Given the description of an element on the screen output the (x, y) to click on. 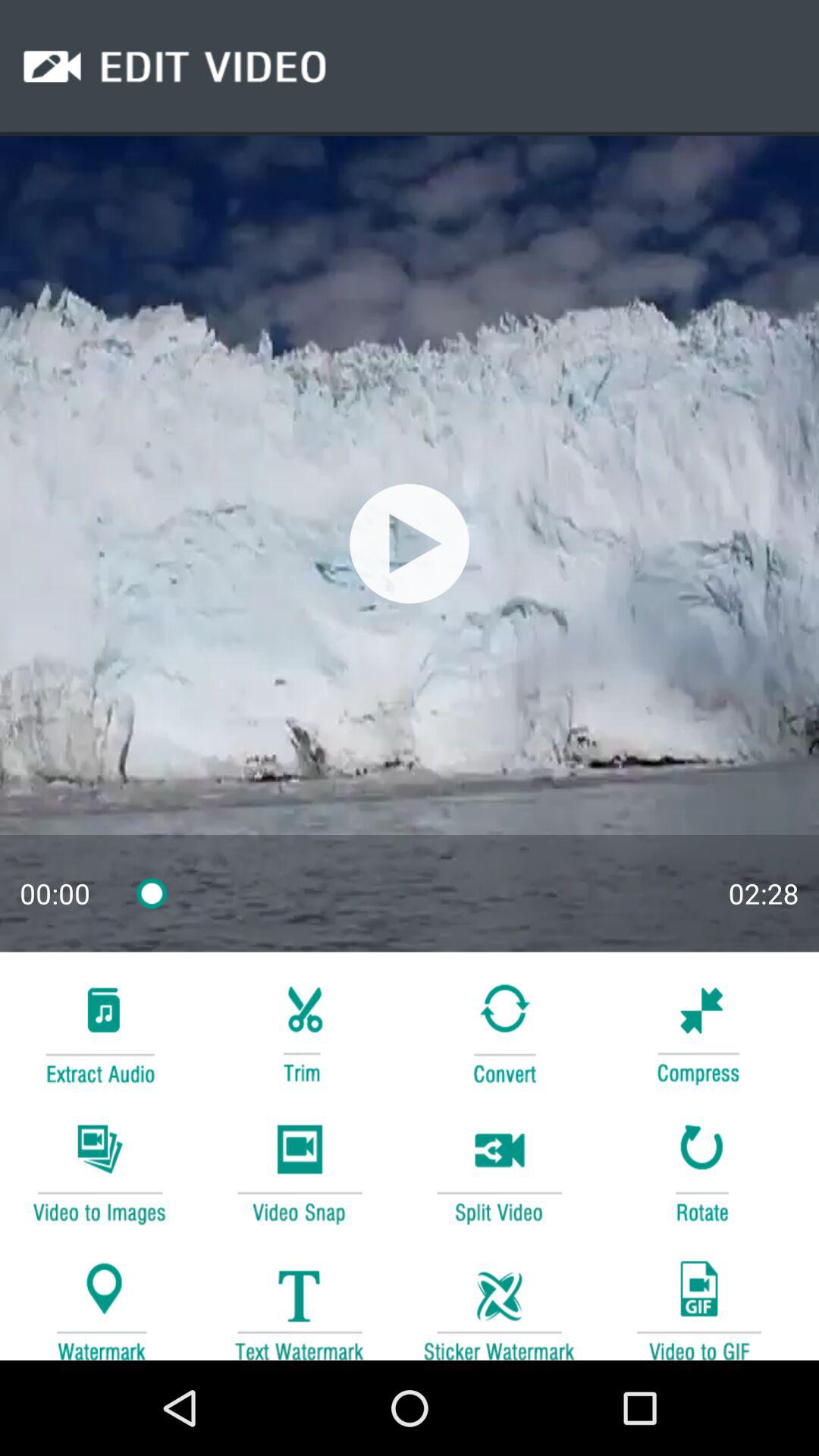
video gif option (698, 1303)
